Given the description of an element on the screen output the (x, y) to click on. 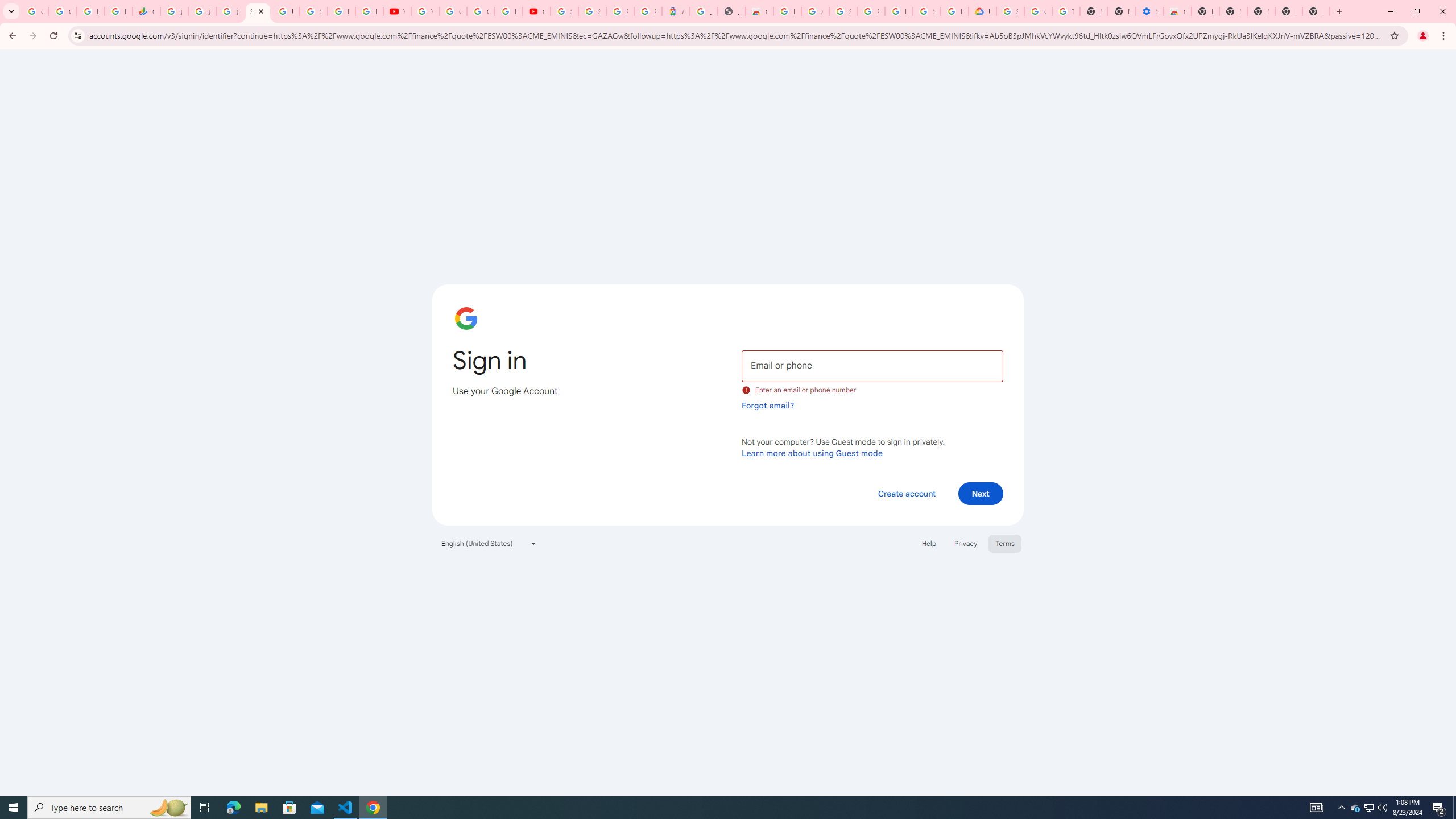
YouTube (397, 11)
Chrome Web Store - Accessibility extensions (1177, 11)
Sign in - Google Accounts (592, 11)
New Tab (1205, 11)
English (United States) (489, 542)
